Given the description of an element on the screen output the (x, y) to click on. 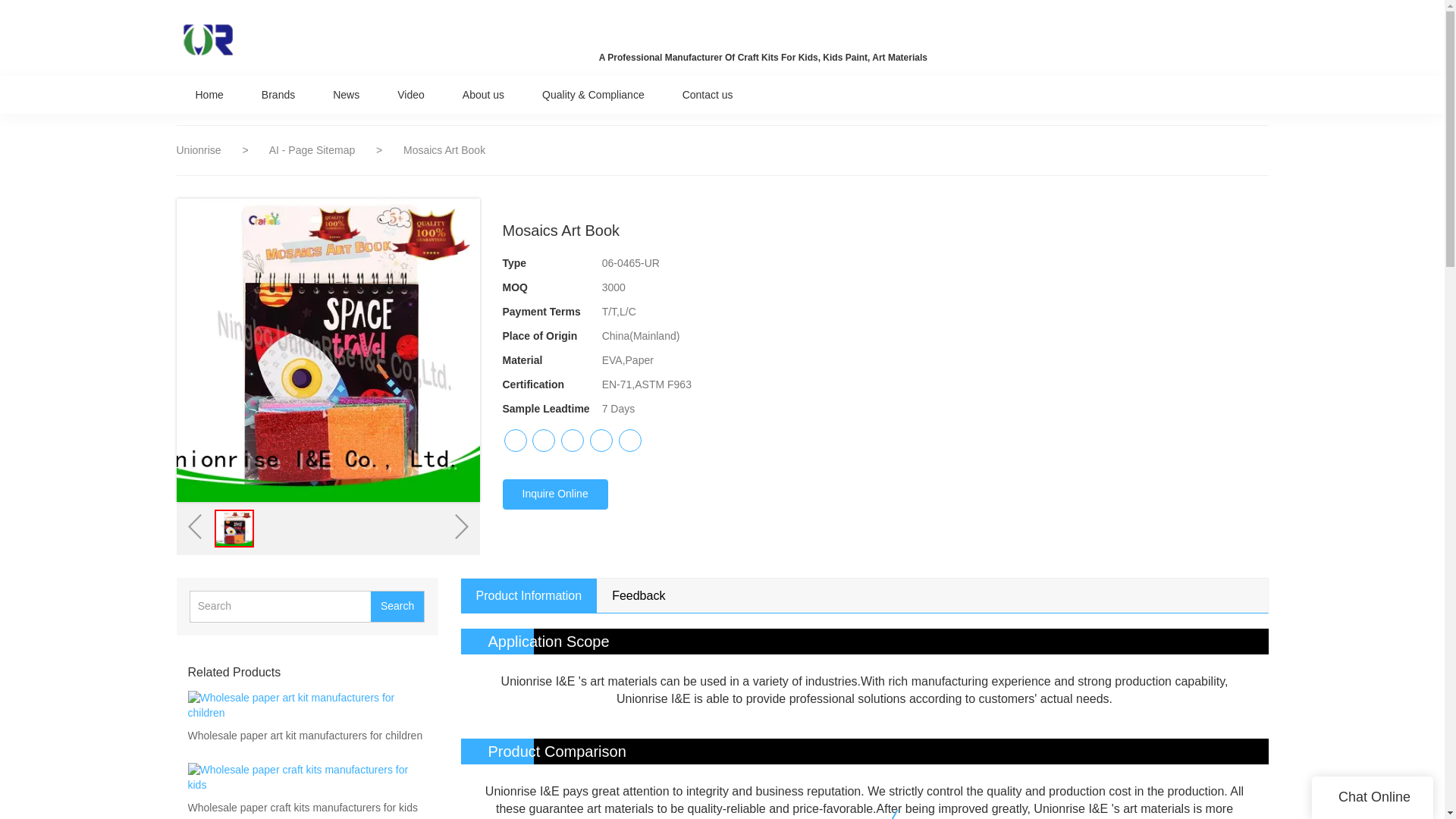
Wholesale paper craft kits manufacturers for kids (302, 807)
Unionrise (198, 150)
Home (209, 94)
AI - Page Sitemap (313, 150)
Video (411, 94)
About us (483, 94)
News (346, 94)
Inquire Online (554, 494)
Wholesale paper art kit manufacturers for children (305, 735)
Contact us (707, 94)
